Given the description of an element on the screen output the (x, y) to click on. 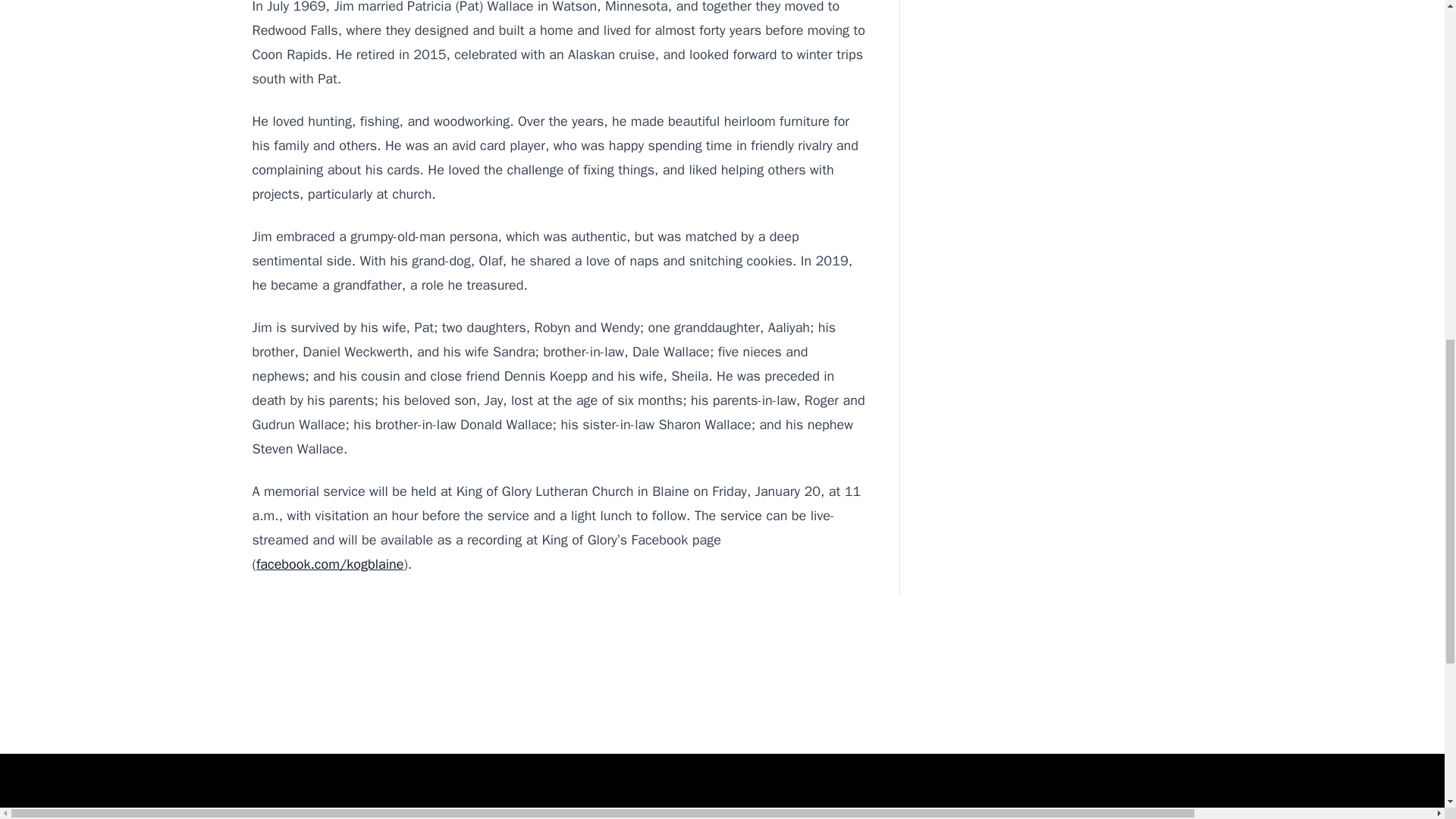
3rd party ad content (721, 704)
